Given the description of an element on the screen output the (x, y) to click on. 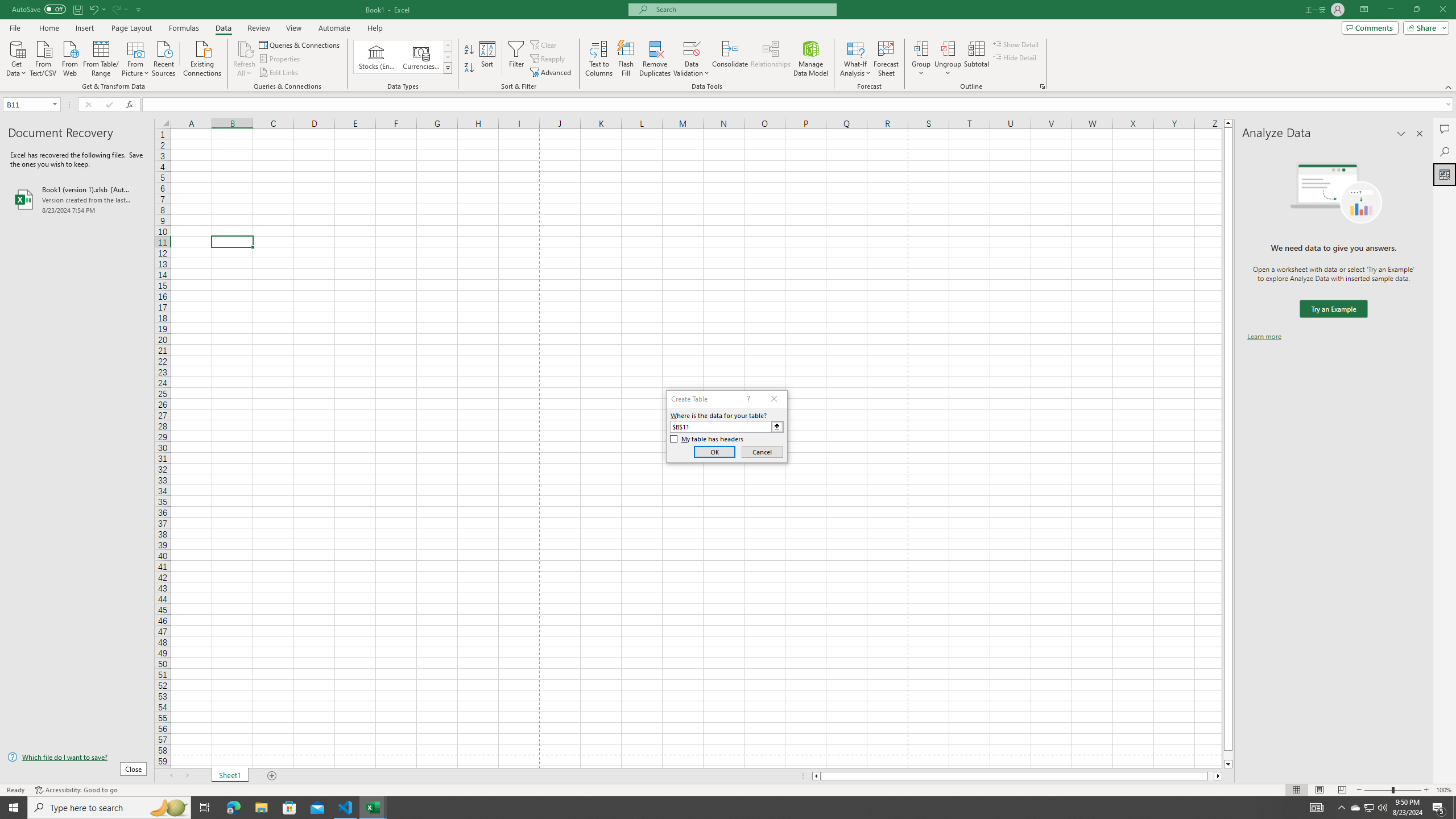
Consolidate... (729, 58)
Row Down (448, 56)
Relationships (770, 58)
From Text/CSV (43, 57)
Search (1444, 151)
Queries & Connections (300, 44)
